Given the description of an element on the screen output the (x, y) to click on. 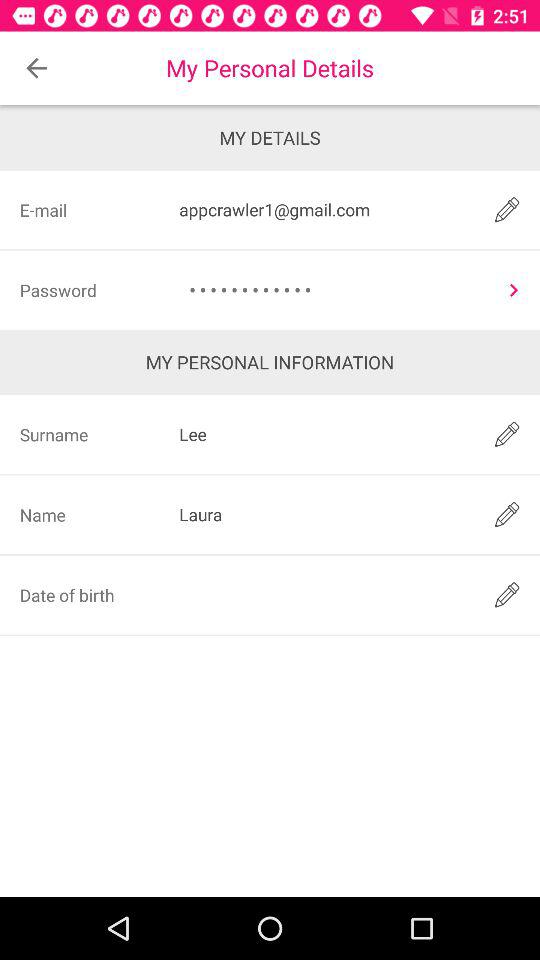
open the item to the right of the surname icon (323, 514)
